Given the description of an element on the screen output the (x, y) to click on. 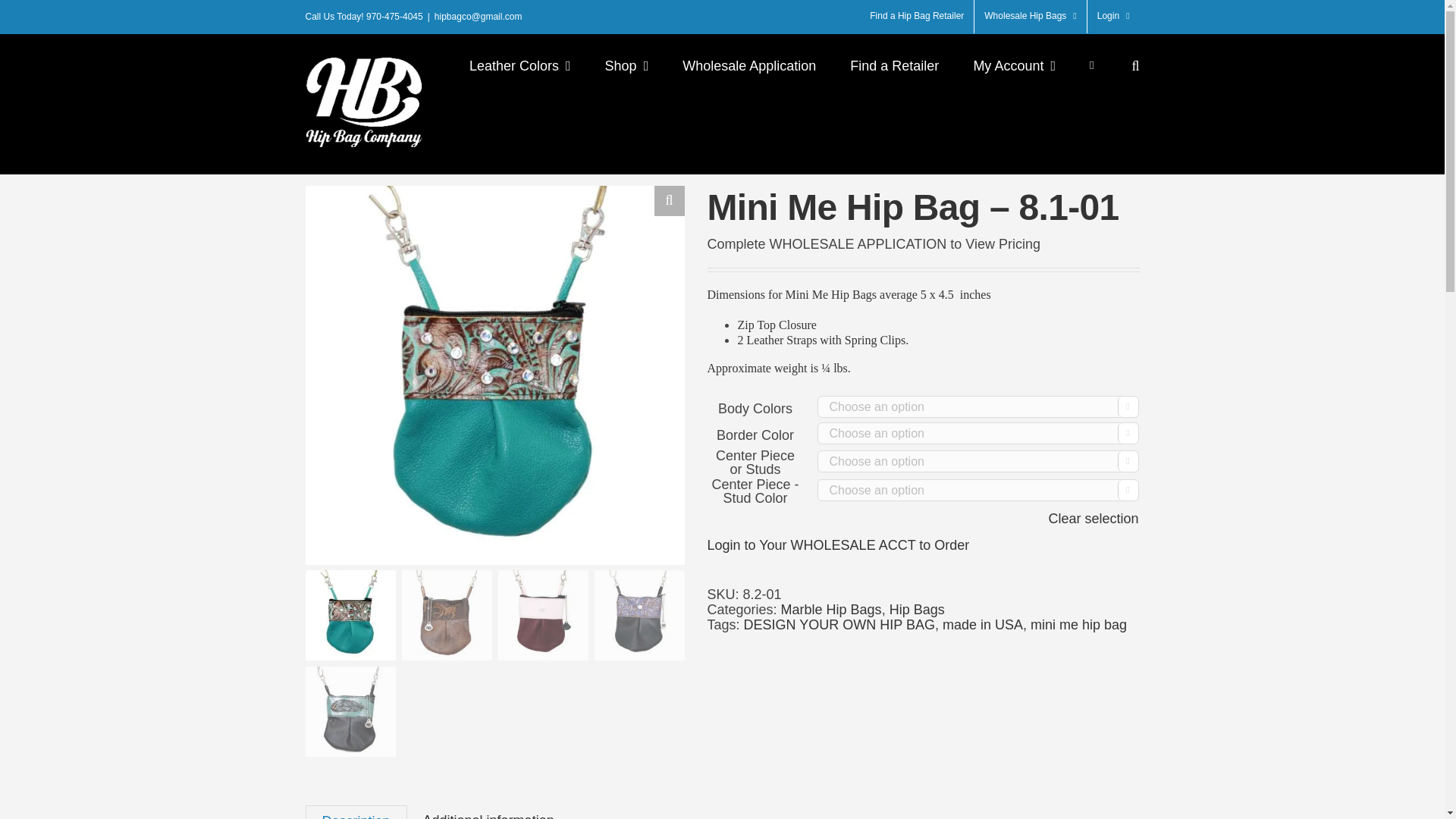
Wholesale Hip Bags (1030, 16)
Find a Hip Bag Retailer (917, 16)
Login (1113, 16)
Leather Colors (519, 65)
